Given the description of an element on the screen output the (x, y) to click on. 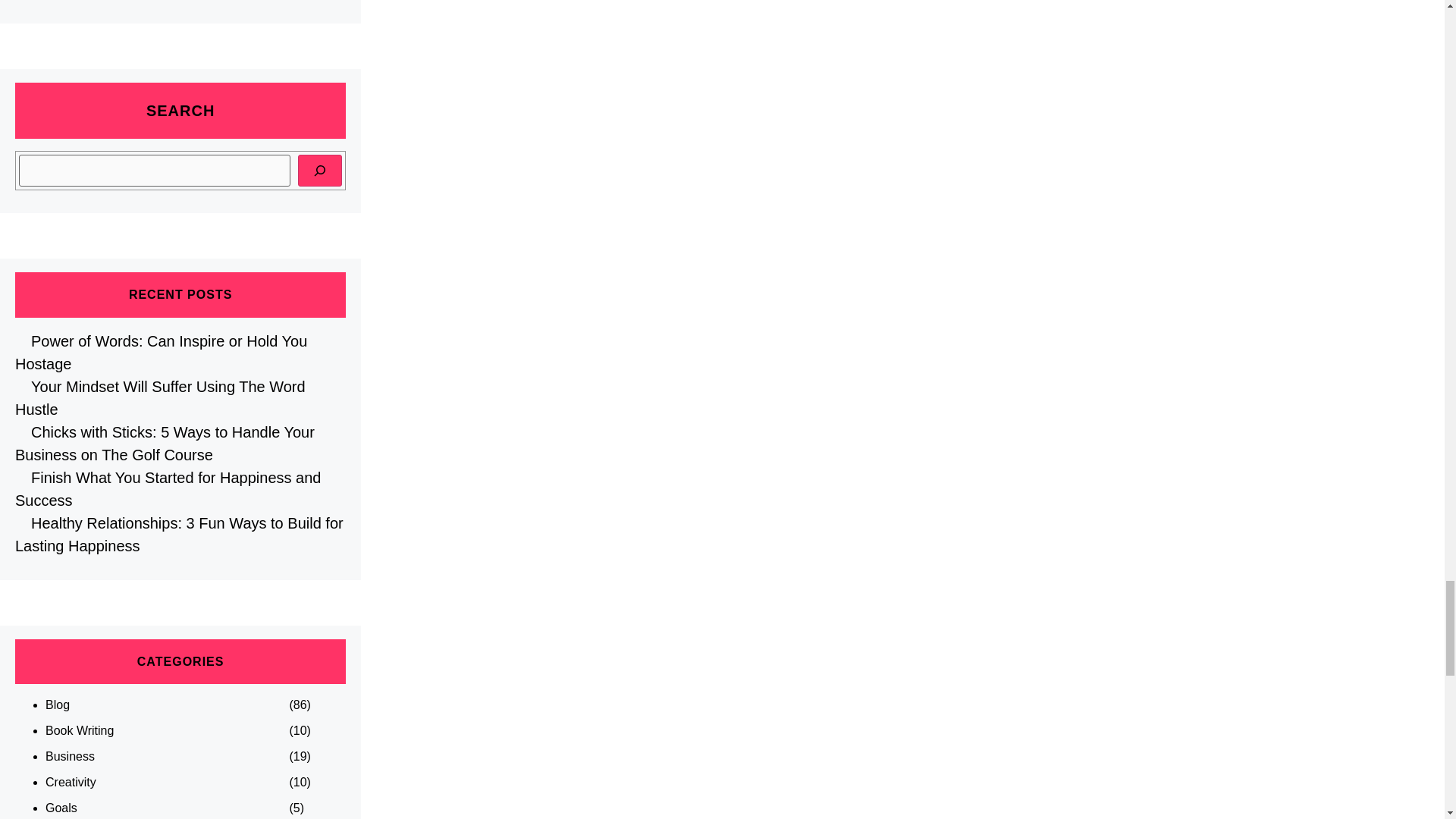
Your Mindset Will Suffer Using The Word Hustle (159, 397)
Power of Words: Can Inspire or Hold You Hostage (160, 352)
